Given the description of an element on the screen output the (x, y) to click on. 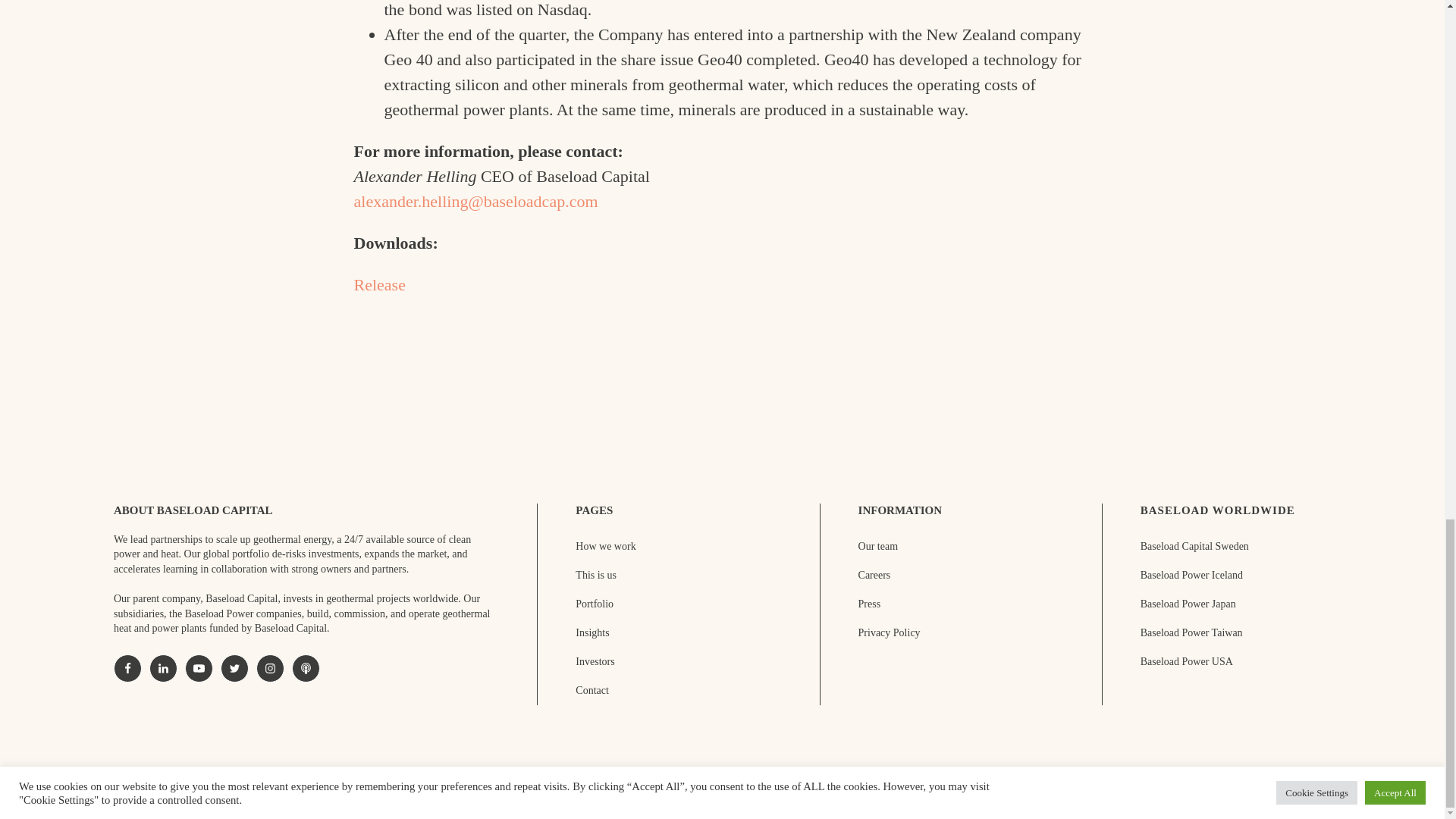
This is us (595, 575)
Release (378, 284)
Portfolio (593, 604)
How we work (604, 546)
